Given the description of an element on the screen output the (x, y) to click on. 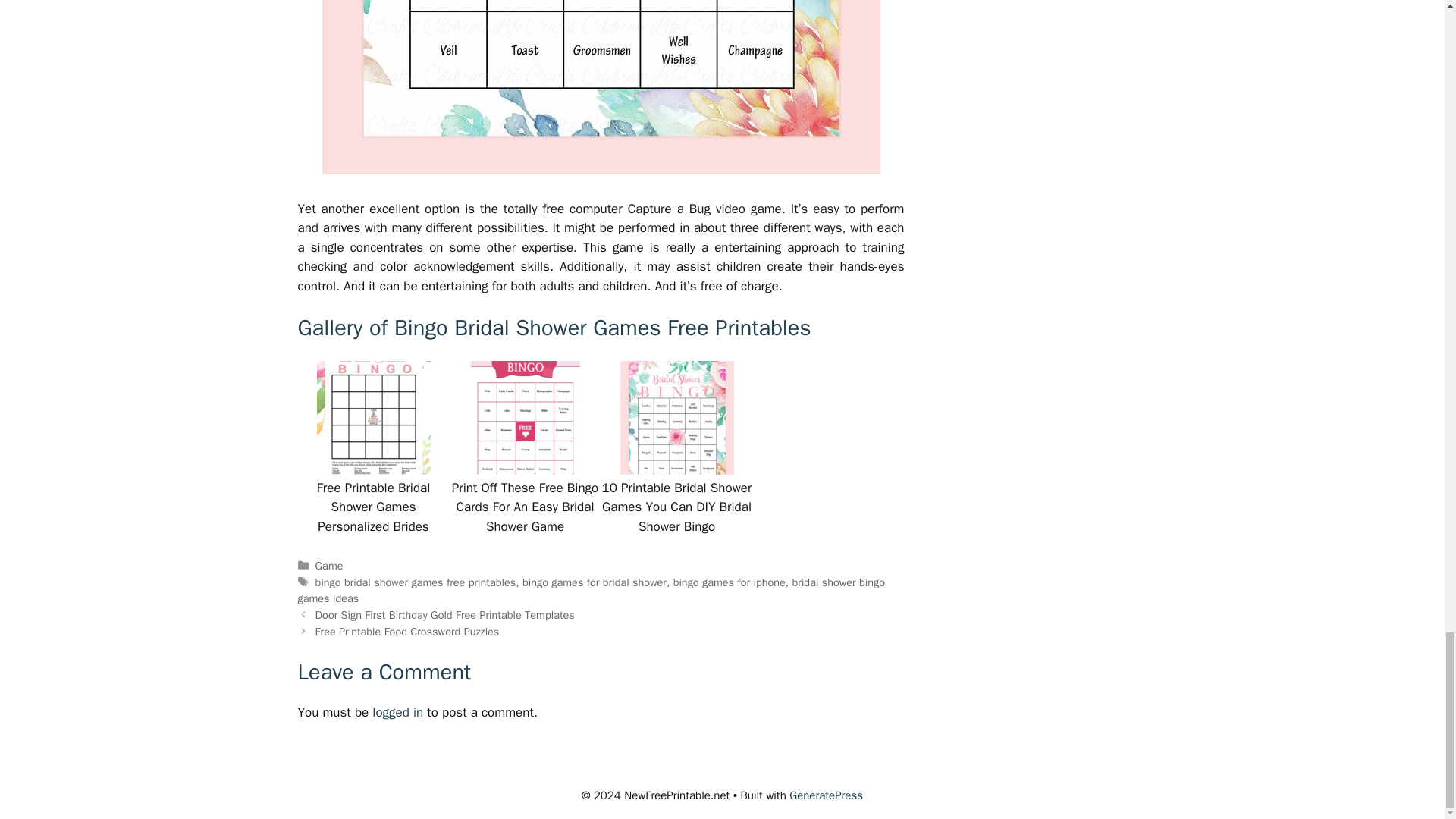
bingo games for bridal shower (594, 581)
Next (407, 631)
bingo games for iphone (729, 581)
Game (329, 565)
bingo bridal shower games free printables (415, 581)
Previous (445, 614)
GeneratePress (826, 795)
logged in (397, 712)
Free Printable Food Crossword Puzzles (407, 631)
bridal shower bingo games ideas (591, 590)
Door Sign First Birthday Gold Free Printable Templates (445, 614)
